Given the description of an element on the screen output the (x, y) to click on. 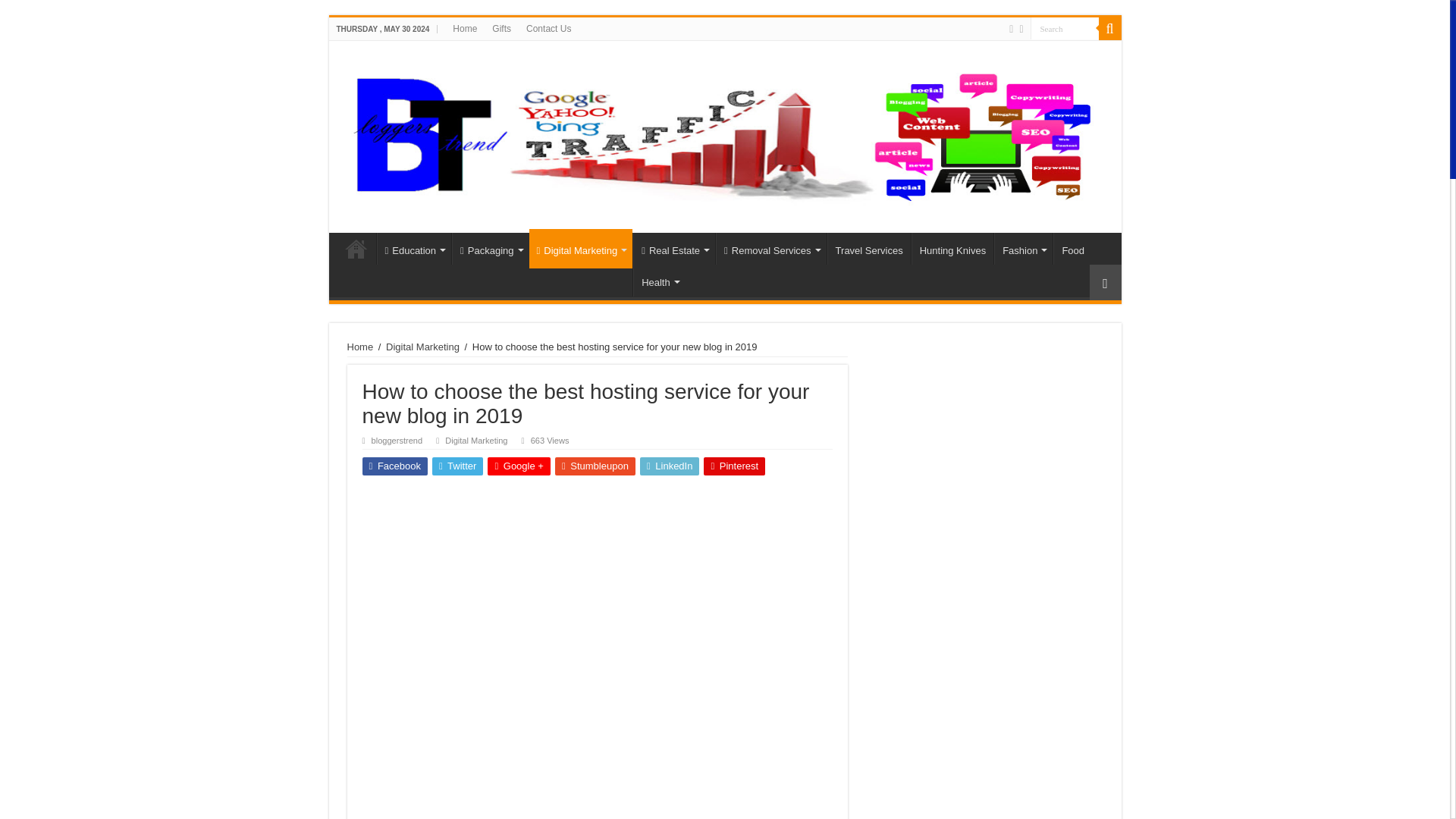
Home (464, 28)
Home (355, 248)
Search (1063, 28)
Real Estate (673, 248)
Search (1063, 28)
Digital Marketing (581, 248)
Bloggers Trend (724, 134)
Search (1109, 28)
Contact Us (548, 28)
Packaging (489, 248)
